Given the description of an element on the screen output the (x, y) to click on. 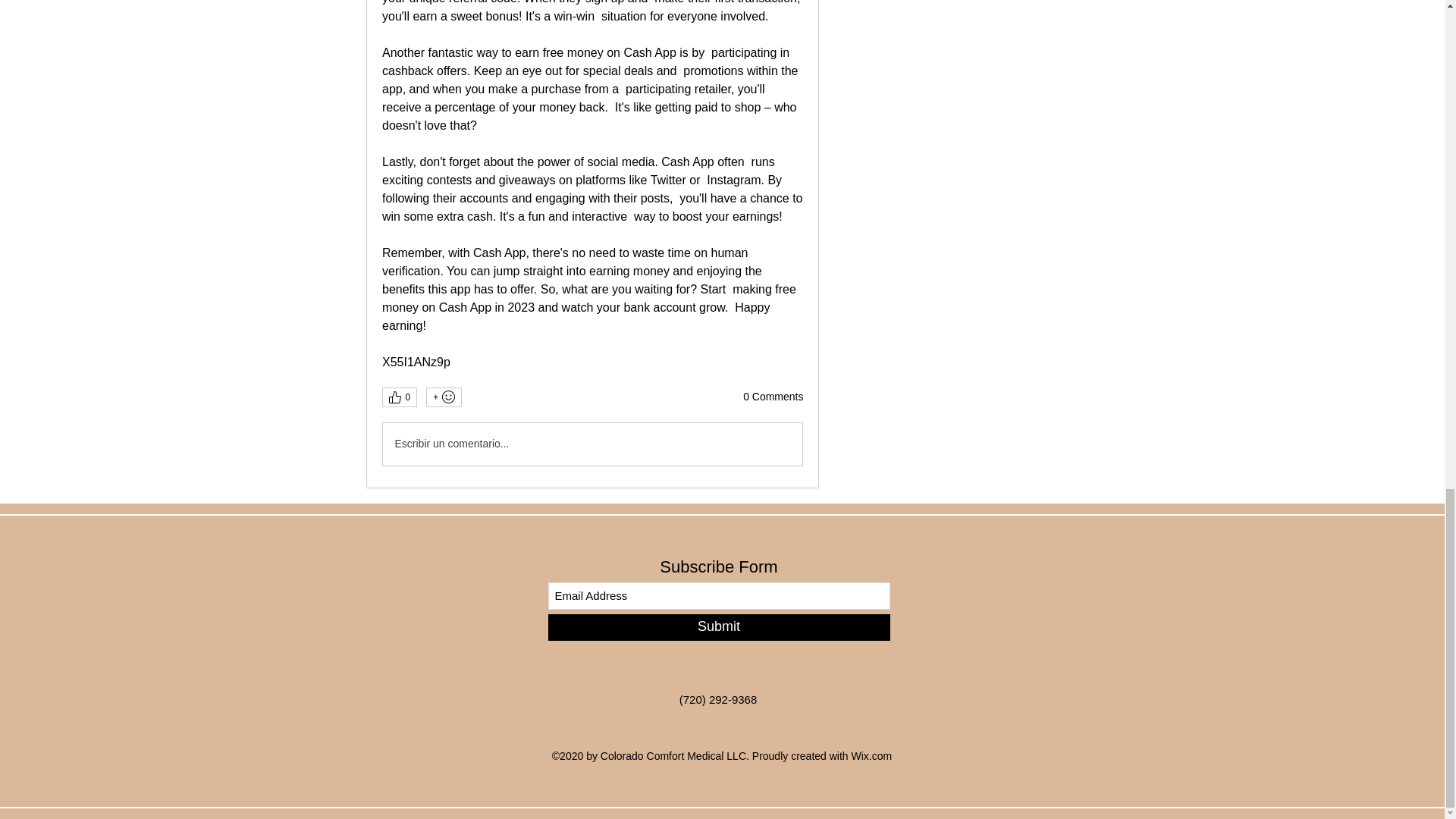
0 Comments (772, 396)
Escribir un comentario... (591, 444)
Submit (718, 627)
